Given the description of an element on the screen output the (x, y) to click on. 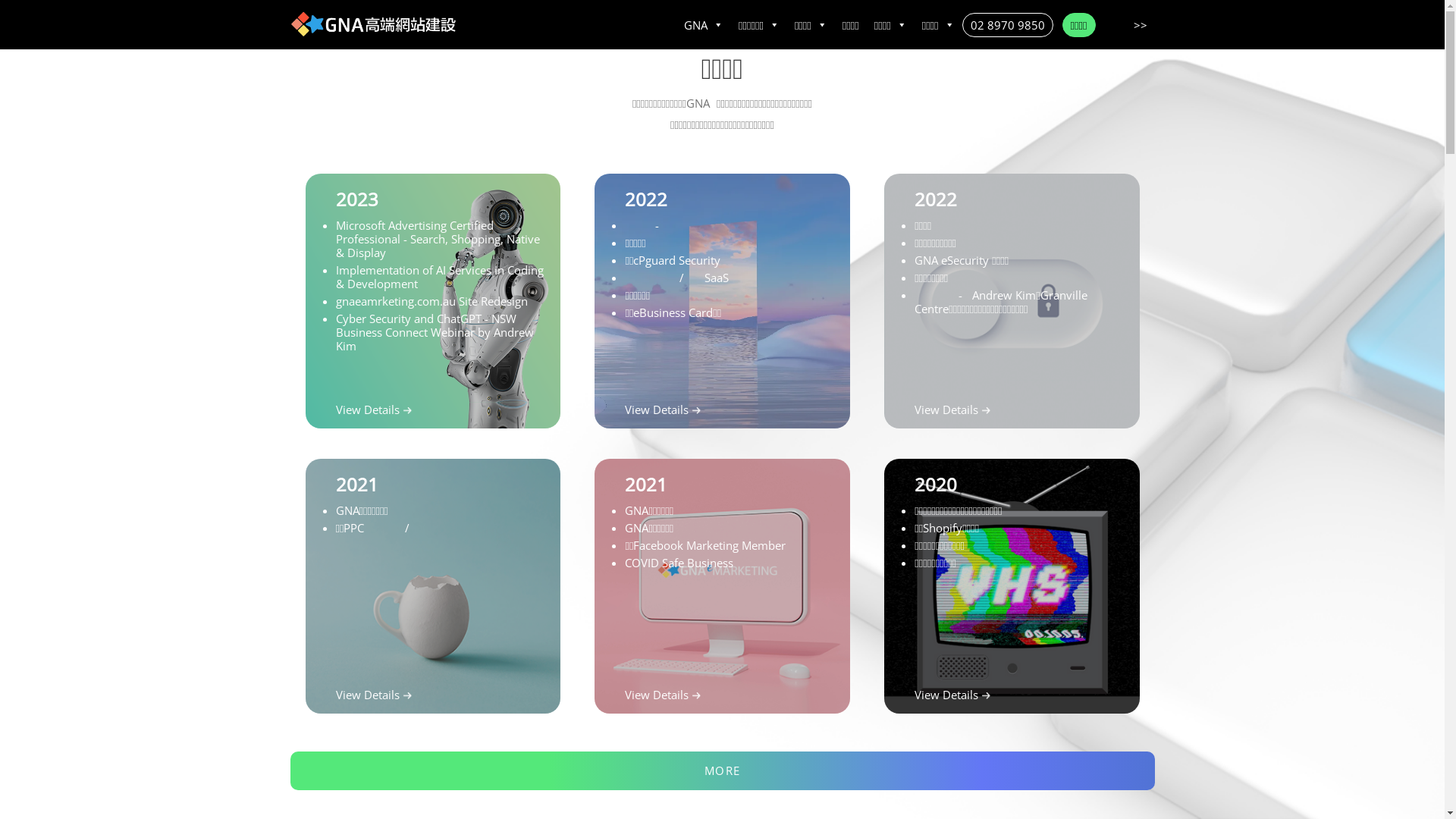
View Details Element type: text (946, 694)
View Details Element type: text (366, 694)
GNA Element type: text (703, 24)
View Details Element type: text (656, 409)
View Details Element type: text (656, 694)
View Details Element type: text (946, 409)
02 8970 9850 Element type: text (1007, 24)
Home Element type: text (372, 24)
View Details Element type: text (366, 409)
